Given the description of an element on the screen output the (x, y) to click on. 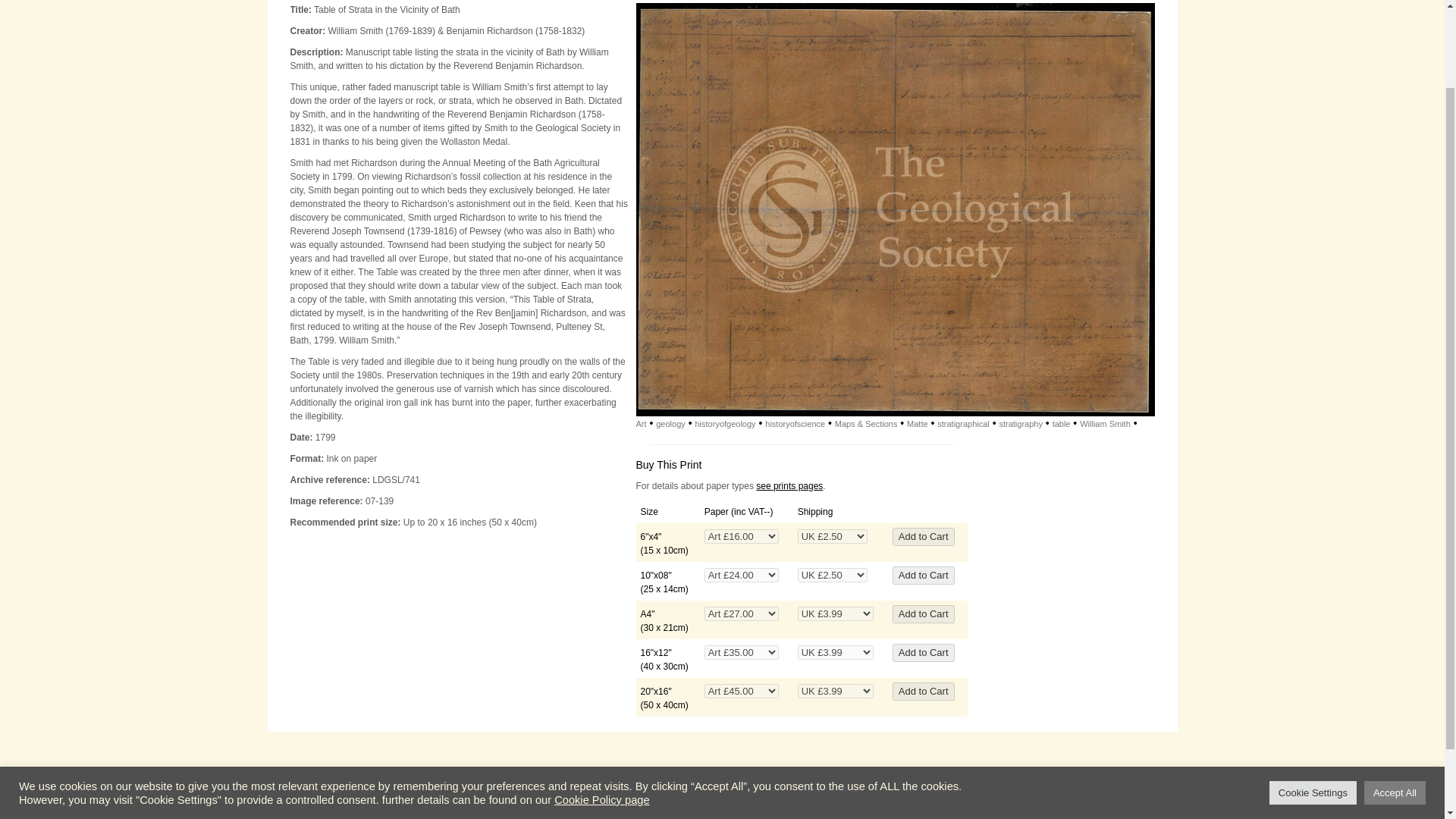
Art (640, 423)
Add to Cart (923, 536)
stratigraphical (962, 423)
Add to Cart (923, 652)
Add to Cart (923, 575)
Add to Cart (923, 652)
geology (670, 423)
historyofscience (795, 423)
William Smith (1105, 423)
Add to Cart (923, 614)
